Given the description of an element on the screen output the (x, y) to click on. 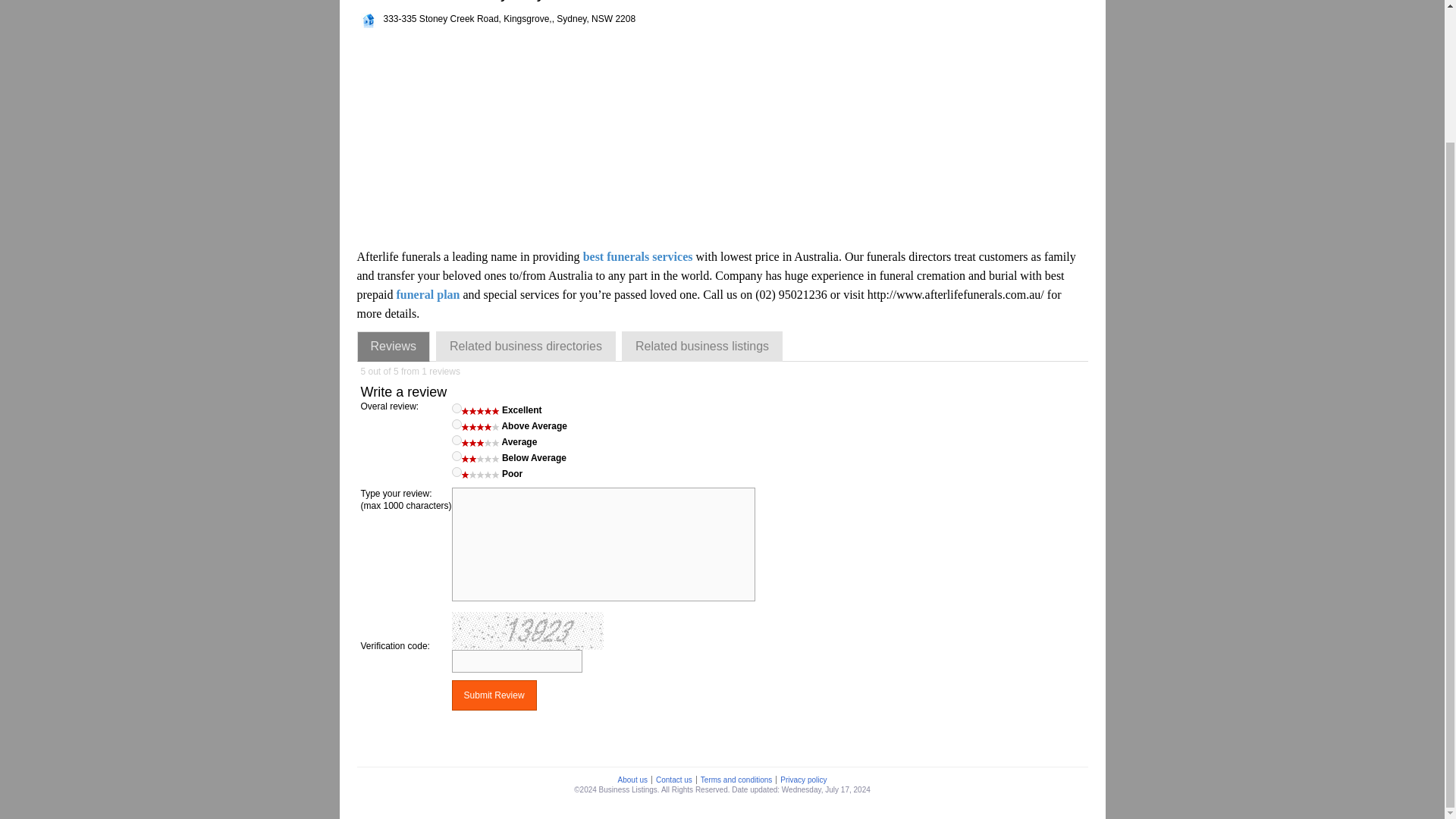
2 (456, 456)
Related business directories (525, 346)
Privacy policy (802, 779)
Related business listings (702, 346)
Funeral Plan Sydney (428, 294)
5 (456, 408)
Terms and conditions (736, 779)
About us (632, 779)
Submit Review (494, 695)
4 (456, 424)
Submit Review (494, 695)
3 (456, 439)
best funerals services (638, 256)
1 (456, 471)
